Given the description of an element on the screen output the (x, y) to click on. 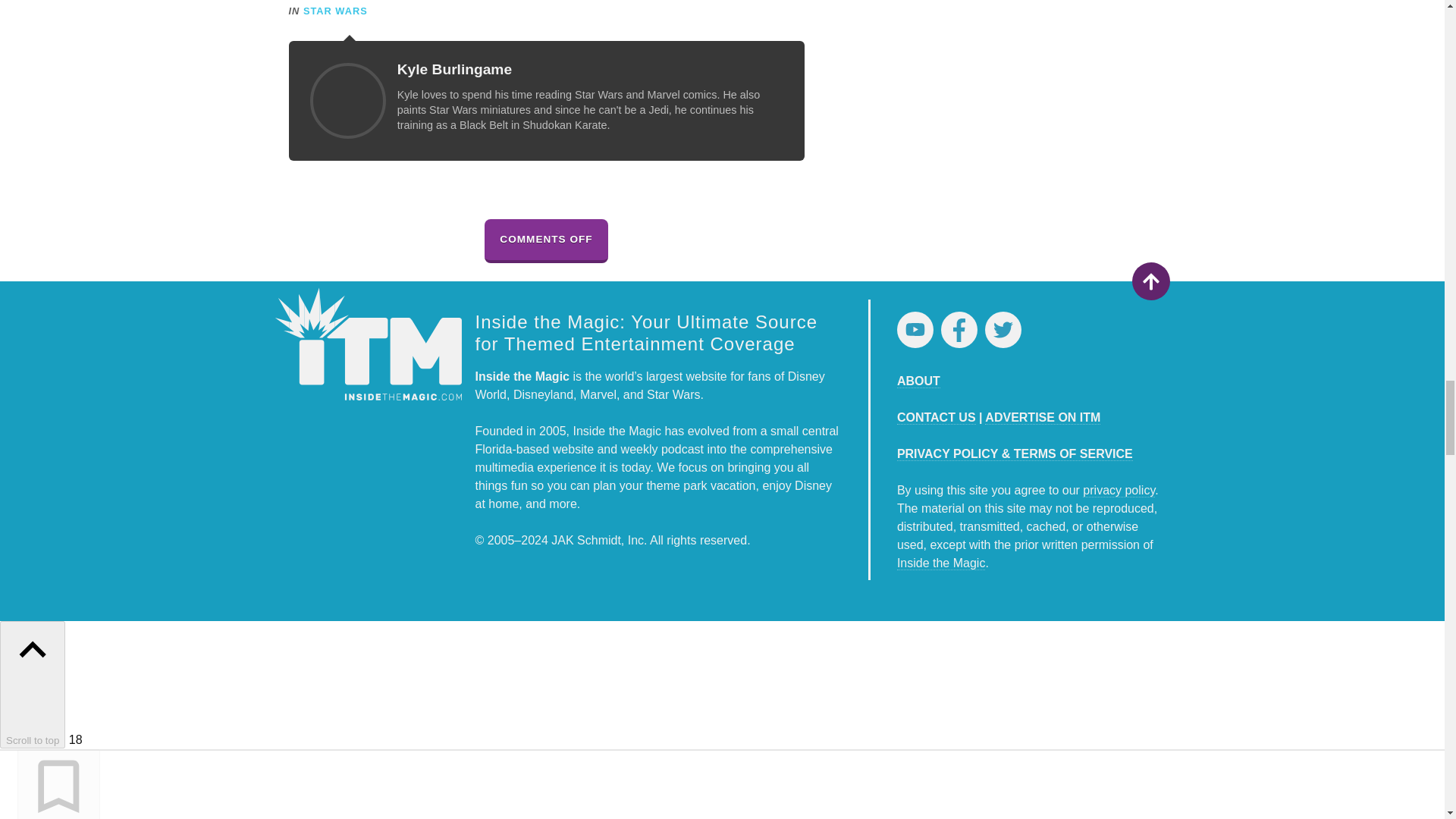
Return to Top (1150, 281)
